Given the description of an element on the screen output the (x, y) to click on. 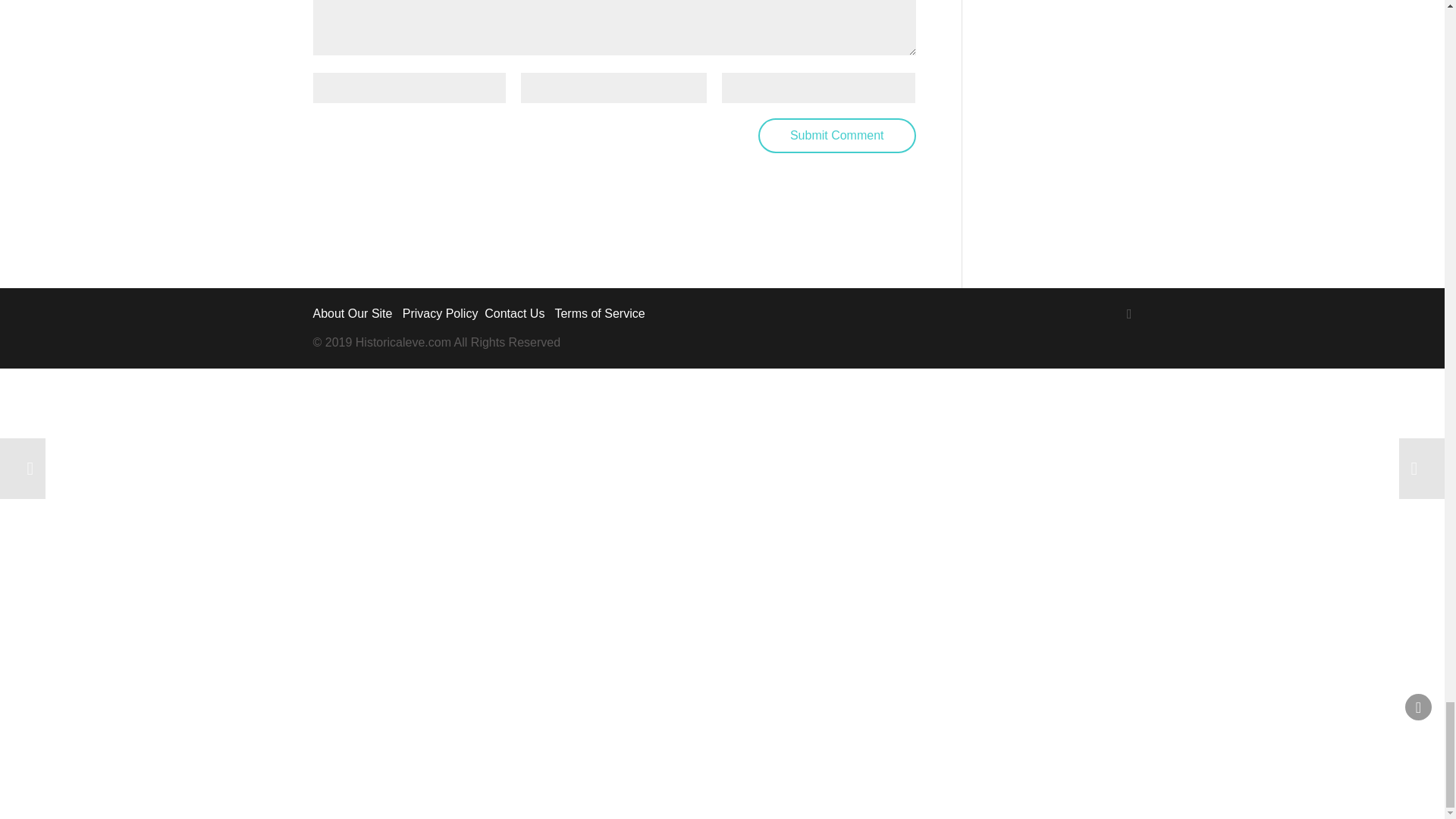
Submit Comment (836, 134)
